Given the description of an element on the screen output the (x, y) to click on. 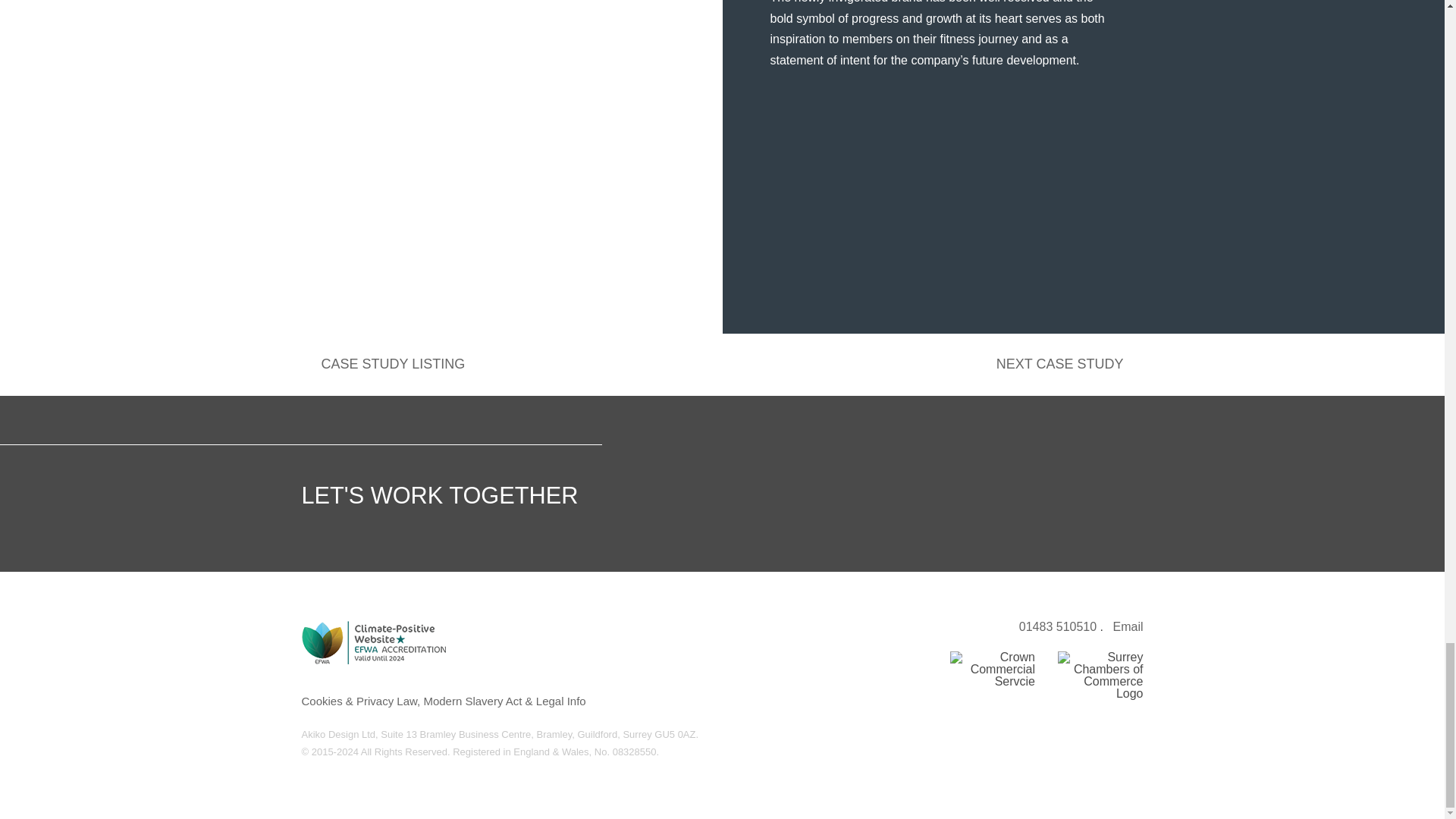
CASE STUDY LISTING (383, 363)
Crown Commercial Servcie Supplier (992, 668)
01483 510510 (1057, 626)
Surrey Chambers of Commerce Logo (1100, 679)
The Kitchen Refurbishment Company (1068, 363)
Eco Friendly Accreditation Logo (373, 642)
NEXT CASE STUDY (1068, 363)
